Given the description of an element on the screen output the (x, y) to click on. 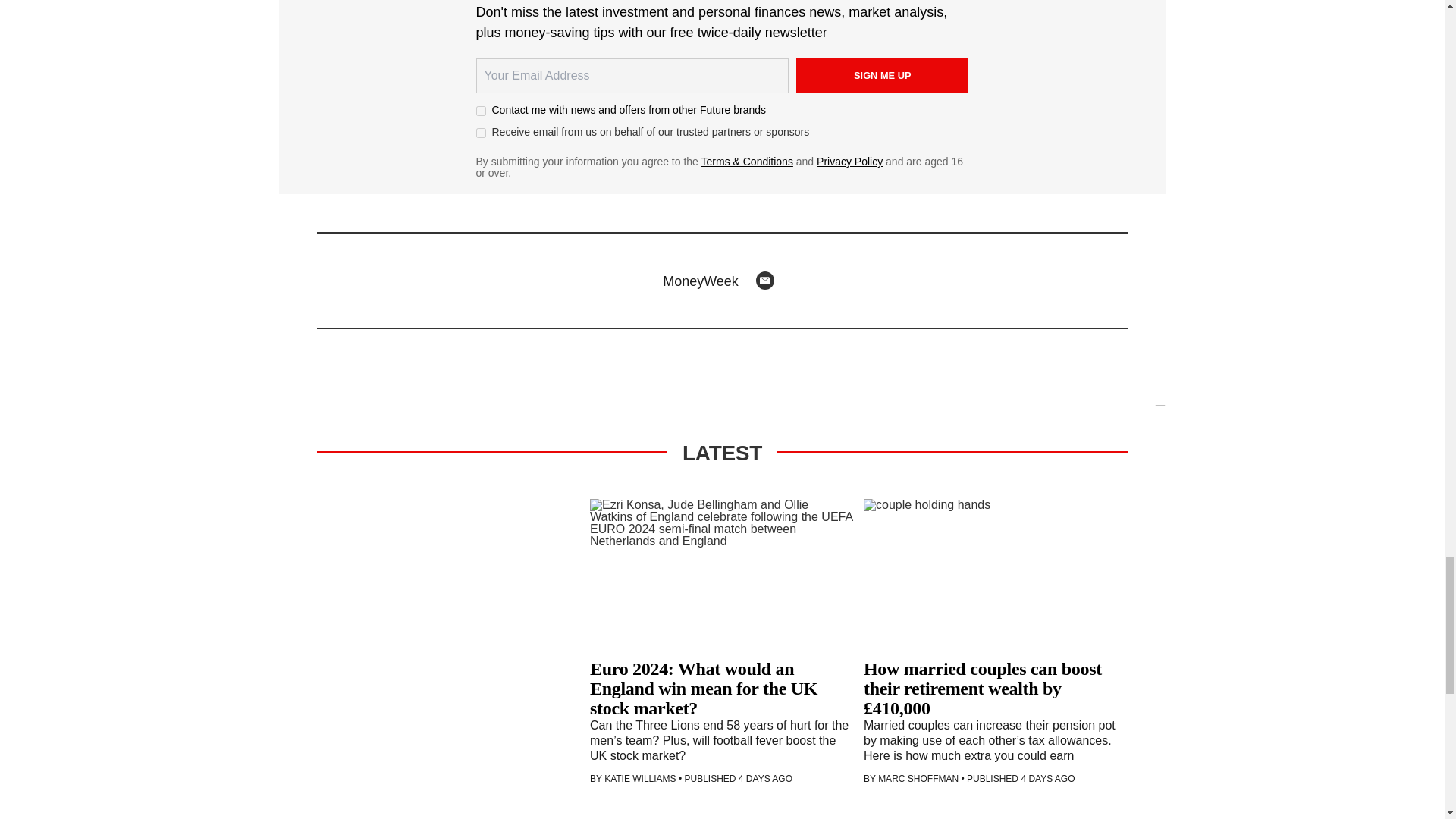
on (481, 111)
Sign me up (882, 75)
on (481, 132)
